Given the description of an element on the screen output the (x, y) to click on. 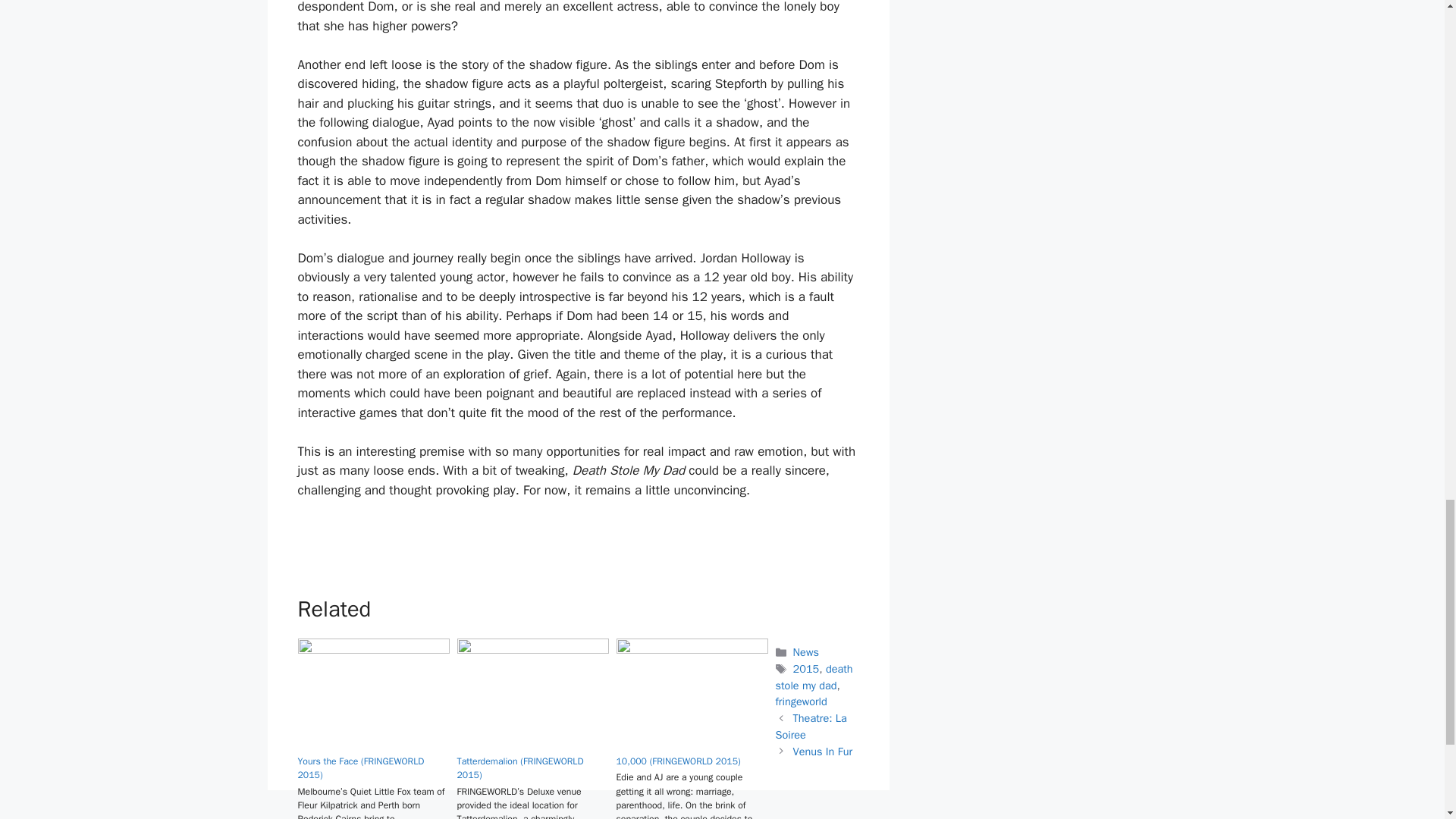
2015 (806, 668)
Venus In Fur (822, 751)
death stole my dad (812, 676)
News (805, 652)
fringeworld (800, 701)
Theatre: La Soiree (809, 726)
